Given the description of an element on the screen output the (x, y) to click on. 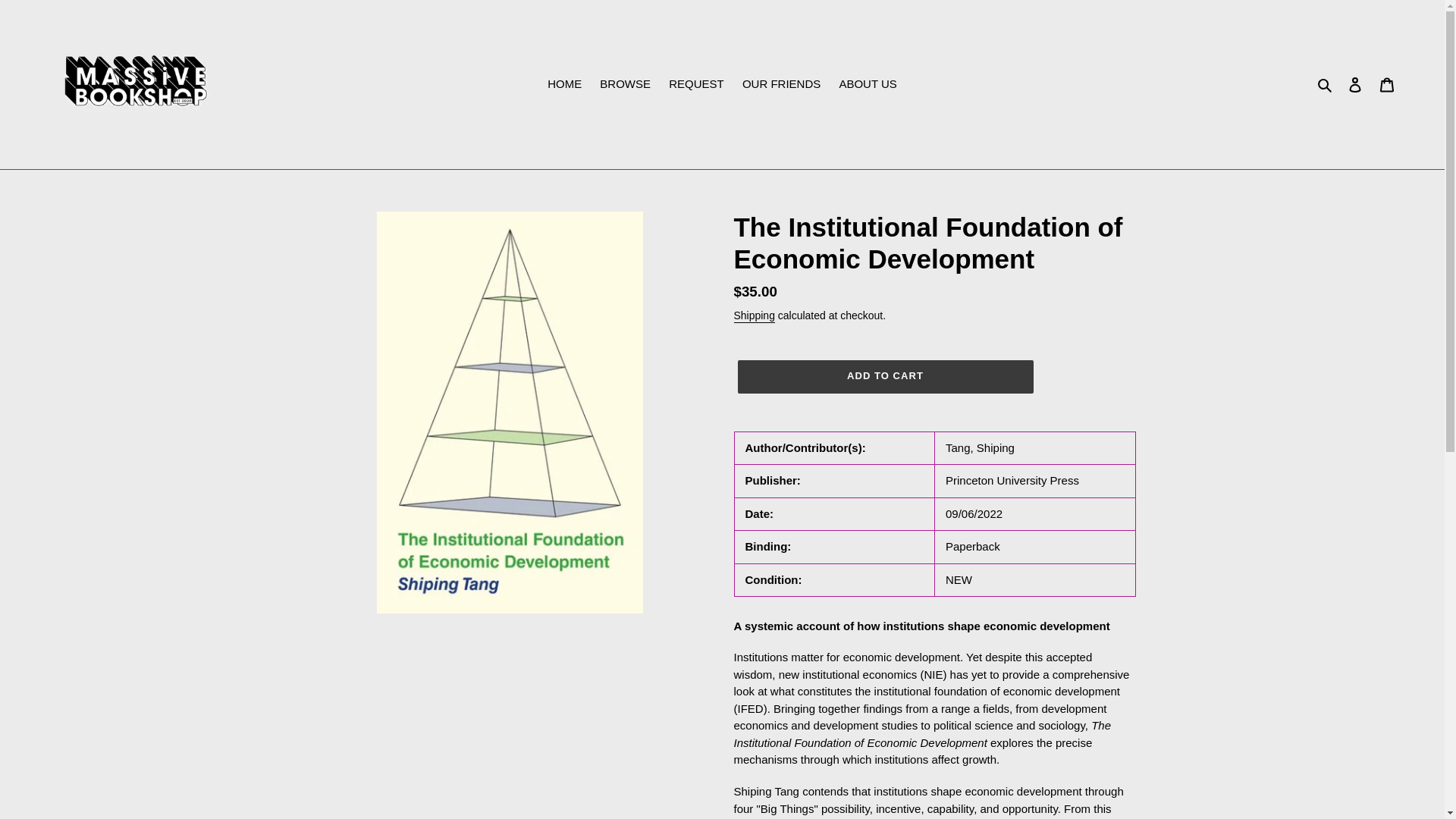
BROWSE (625, 84)
HOME (564, 84)
ABOUT US (867, 84)
REQUEST (696, 84)
Search (1326, 84)
OUR FRIENDS (781, 84)
Cart (1387, 83)
ADD TO CART (884, 376)
Log in (1355, 83)
Shipping (753, 315)
